Given the description of an element on the screen output the (x, y) to click on. 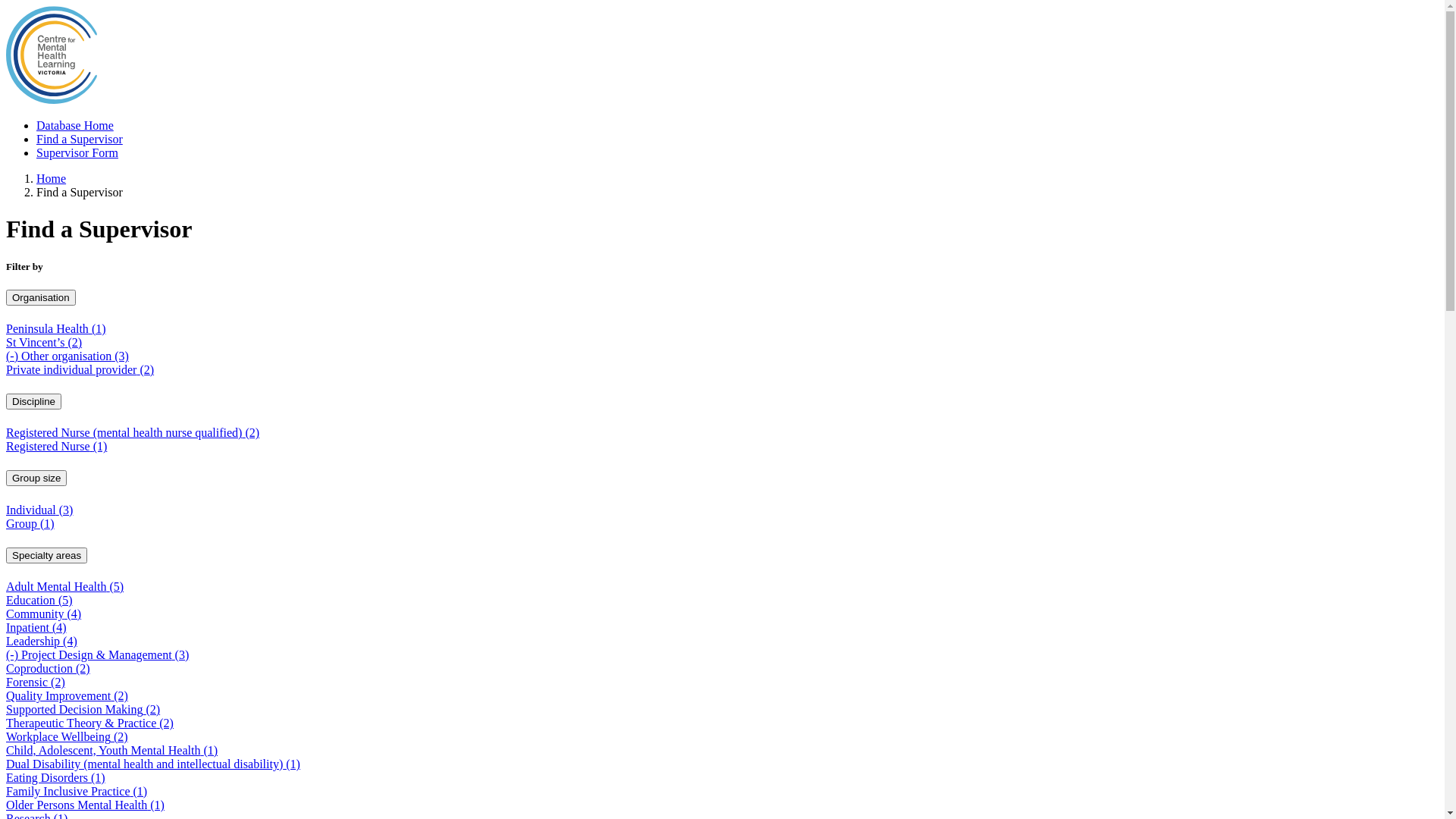
Home Element type: hover (51, 99)
Discipline Element type: text (33, 401)
Quality Improvement (2) Element type: text (67, 695)
Database Home Element type: text (74, 125)
Forensic (2) Element type: text (35, 681)
Education (5) Element type: text (39, 599)
Coproduction (2) Element type: text (48, 668)
Group (1) Element type: text (30, 523)
Child, Adolescent, Youth Mental Health (1) Element type: text (111, 749)
Supervisor Form Element type: text (77, 152)
Family Inclusive Practice (1) Element type: text (76, 790)
Workplace Wellbeing (2) Element type: text (67, 736)
Skip to main content Element type: text (6, 6)
Group size Element type: text (36, 478)
(-) Other organisation (3) Element type: text (67, 355)
Private individual provider (2) Element type: text (79, 369)
Therapeutic Theory & Practice (2) Element type: text (89, 722)
Leadership (4) Element type: text (41, 640)
Registered Nurse (1) Element type: text (56, 445)
Eating Disorders (1) Element type: text (55, 777)
Home Element type: text (50, 178)
Find a Supervisor Element type: text (79, 138)
Organisation Element type: text (40, 297)
Peninsula Health (1) Element type: text (56, 328)
Registered Nurse (mental health nurse qualified) (2) Element type: text (132, 432)
Inpatient (4) Element type: text (36, 627)
Specialty areas Element type: text (46, 555)
Individual (3) Element type: text (39, 509)
Older Persons Mental Health (1) Element type: text (85, 804)
Community (4) Element type: text (43, 613)
Adult Mental Health (5) Element type: text (64, 586)
(-) Project Design & Management (3) Element type: text (97, 654)
Supported Decision Making (2) Element type: text (83, 708)
